Given the description of an element on the screen output the (x, y) to click on. 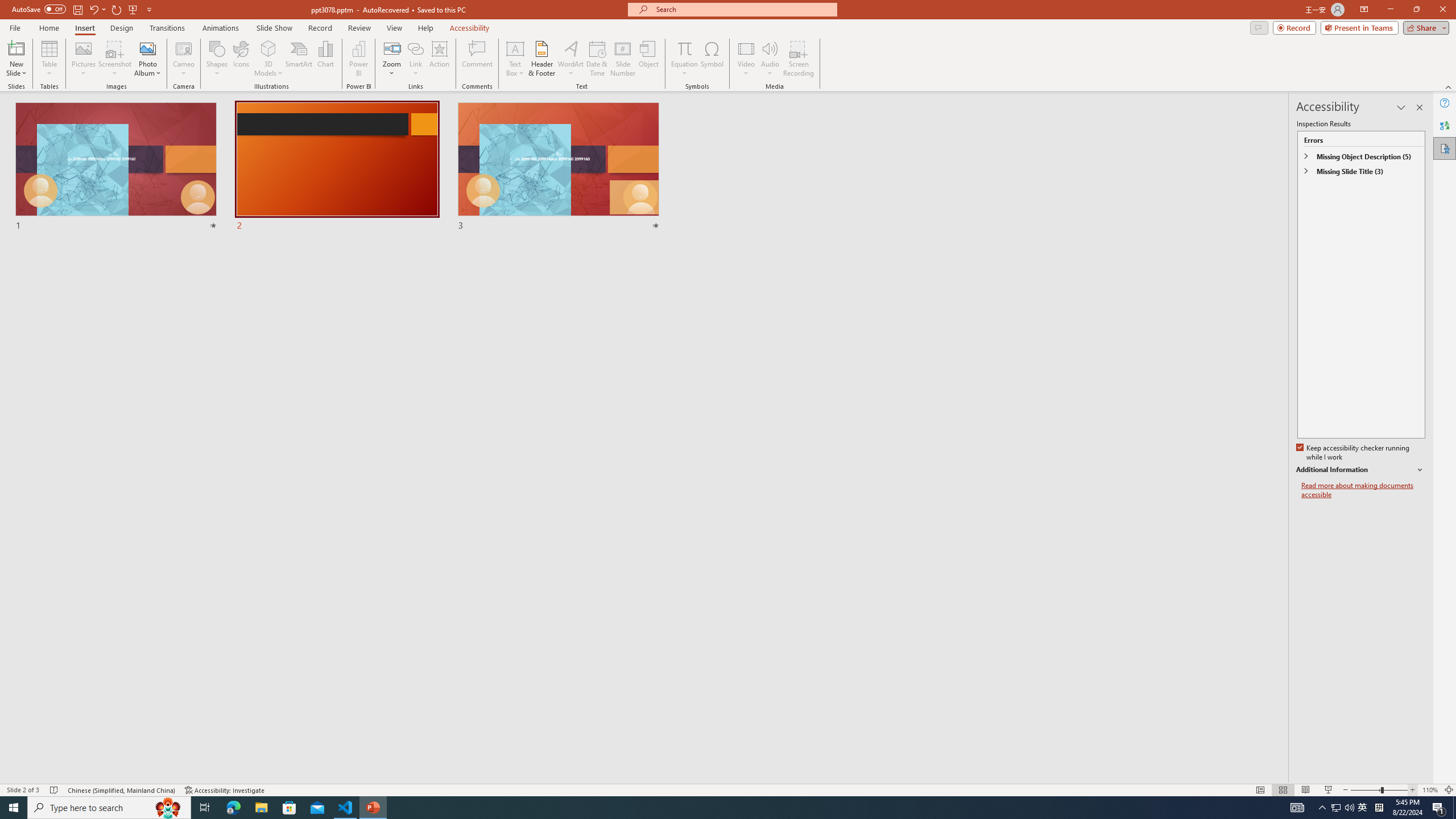
Screenshot (114, 58)
Zoom Out (1365, 790)
3D Models (268, 48)
Restore Down (1416, 9)
From Beginning (133, 9)
Translator (1444, 125)
3D Models (268, 58)
Undo (92, 9)
New Photo Album... (147, 48)
Microsoft search (742, 9)
Link (415, 58)
Link (415, 48)
Chart... (325, 58)
Zoom In (1412, 790)
Task Pane Options (1400, 107)
